Given the description of an element on the screen output the (x, y) to click on. 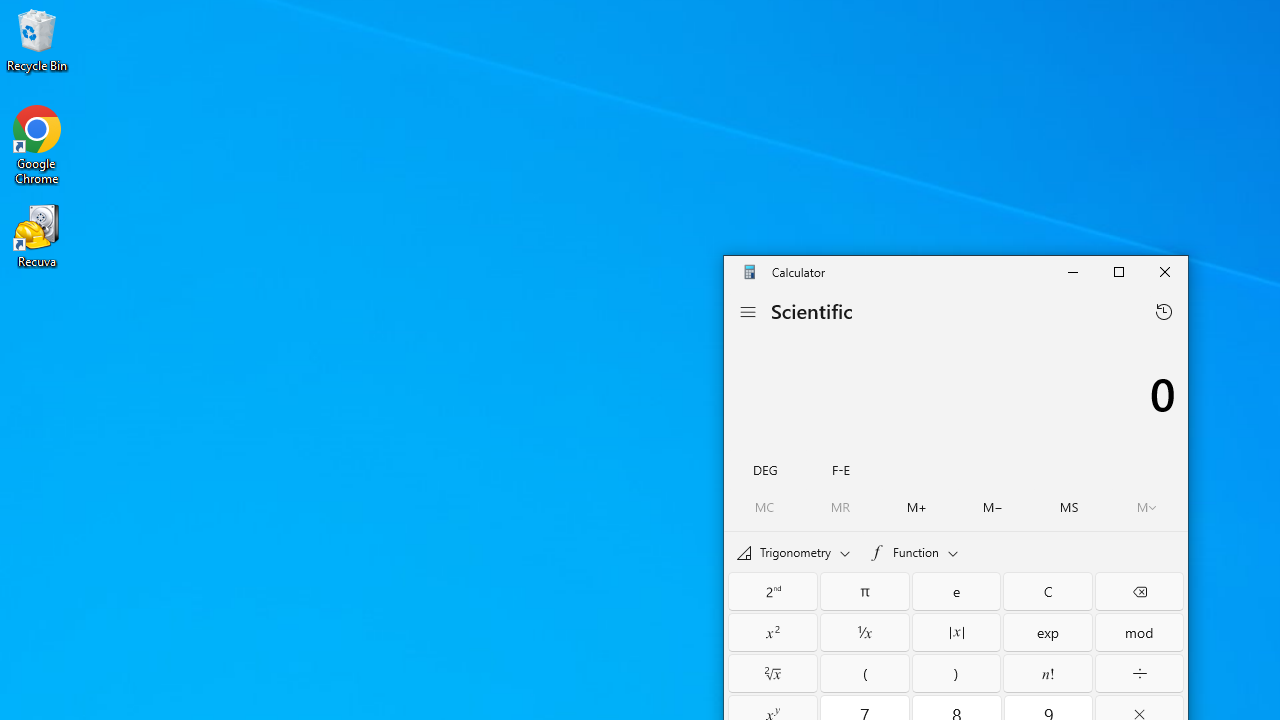
Memory recall (840, 507)
Right parenthesis (955, 672)
